Given the description of an element on the screen output the (x, y) to click on. 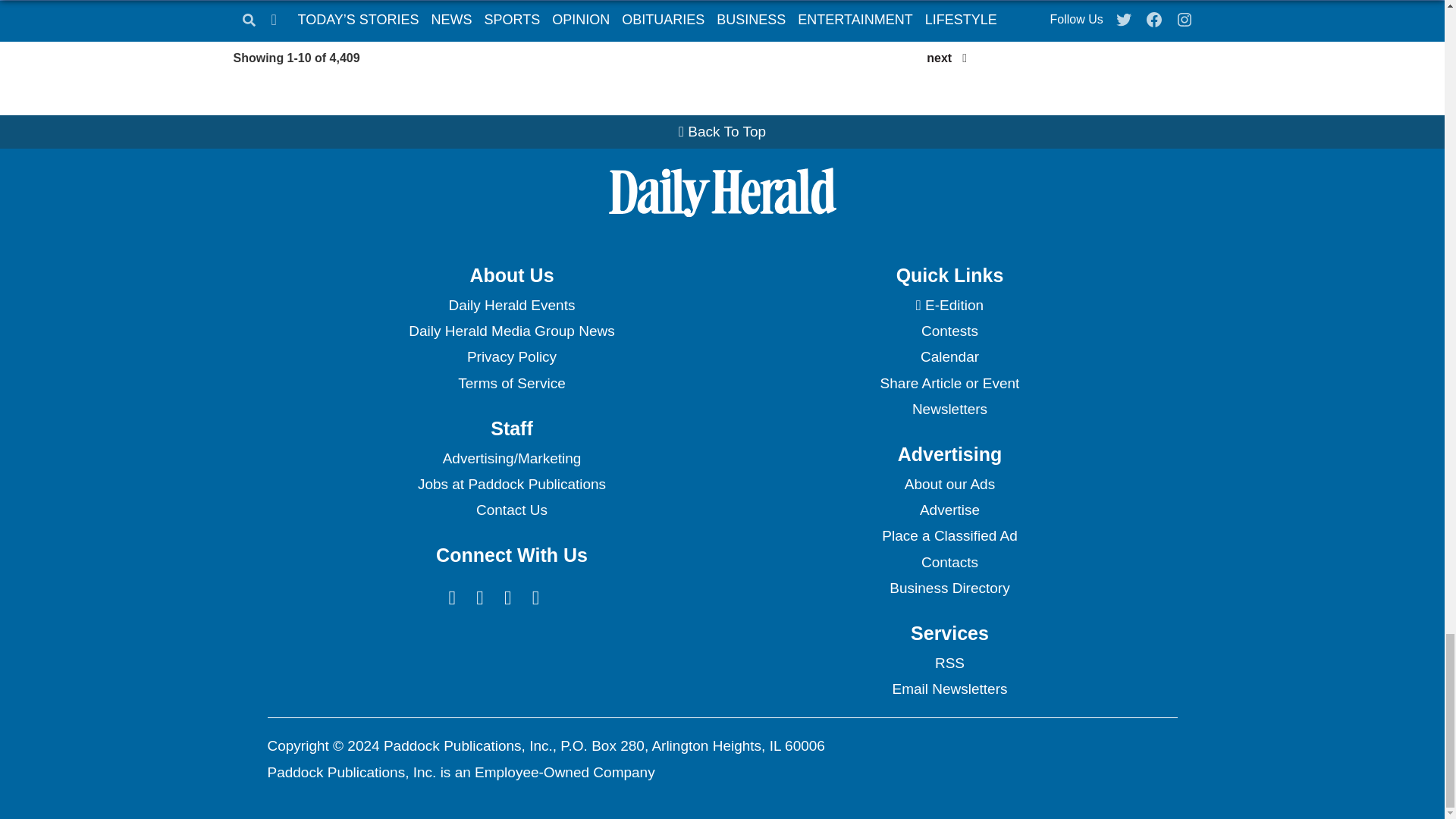
Privacy Policy (511, 356)
Daily Herald Media Group News (511, 330)
Terms of Service (511, 383)
next page (939, 57)
Contact Us (511, 510)
Jobs at Paddock Publications (511, 484)
Contests (949, 330)
Daily Herald Digital Newspaper (949, 305)
Daily Herald Events (511, 305)
